Given the description of an element on the screen output the (x, y) to click on. 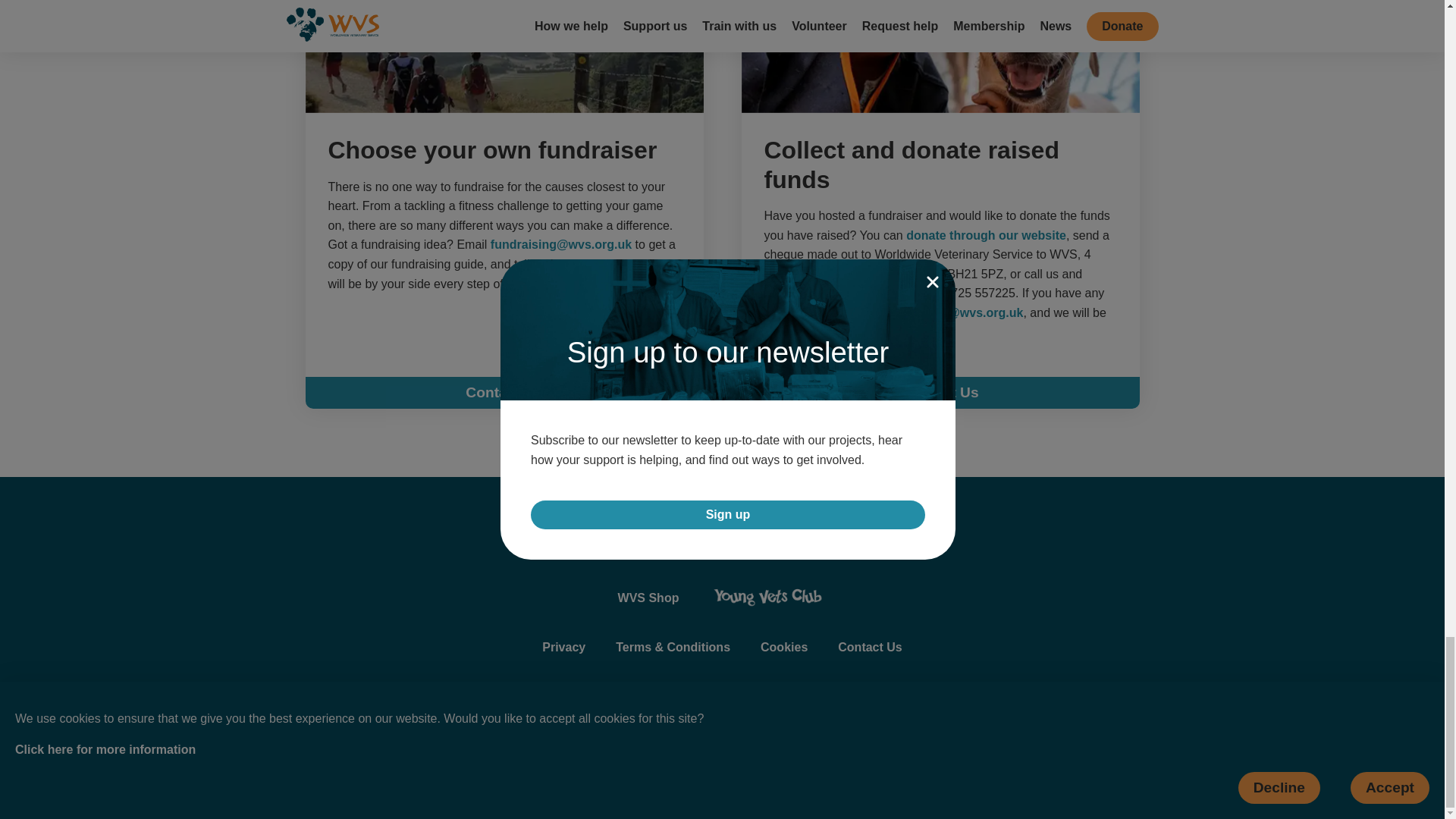
WVS Shop (648, 598)
Contact Us (503, 392)
donate through our website (985, 235)
Contact Us (940, 392)
